Given the description of an element on the screen output the (x, y) to click on. 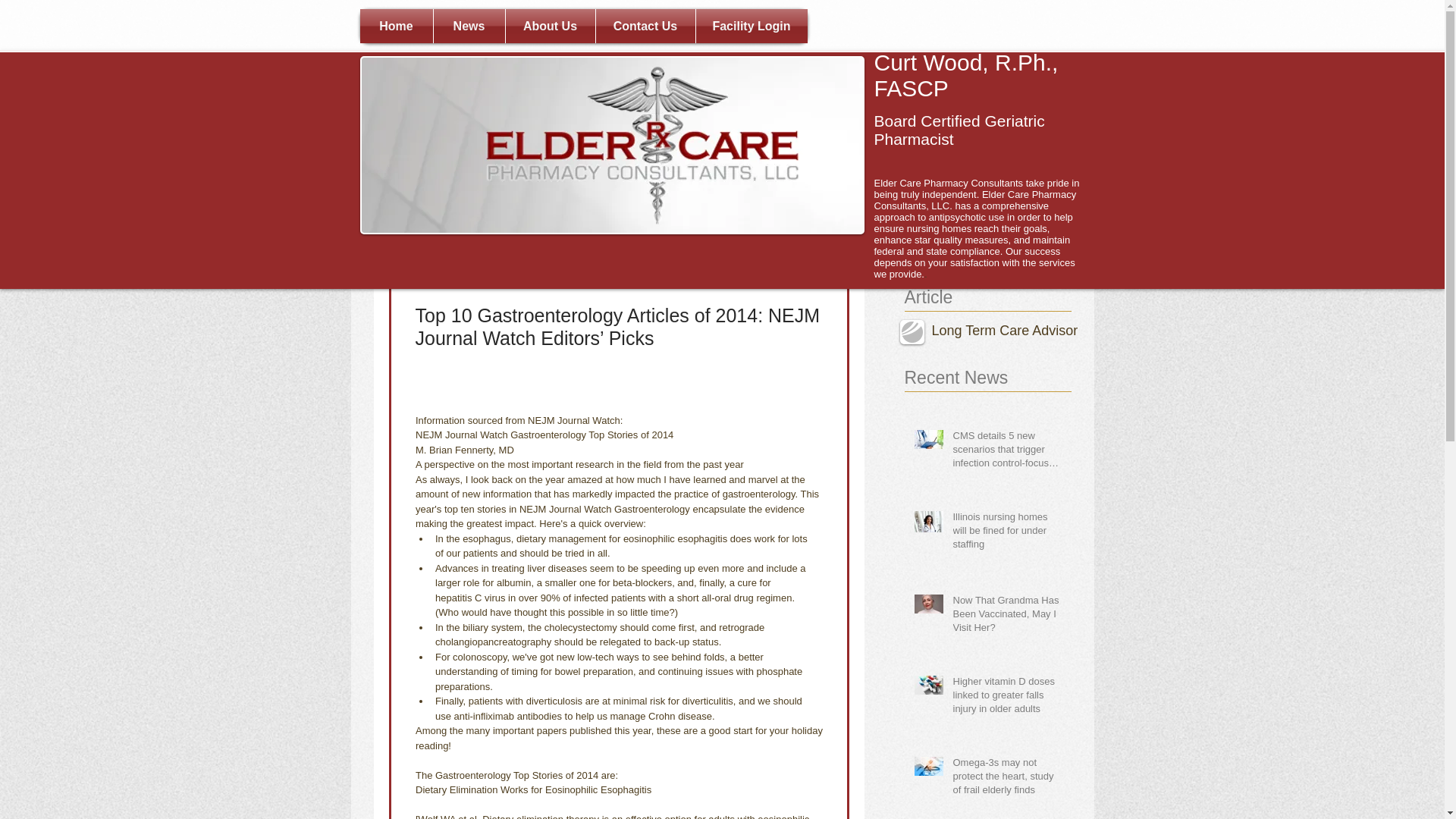
Home (395, 26)
News (469, 26)
Contact Us (645, 26)
Illinois nursing homes will be fined for under staffing (1006, 533)
ECLogo2.jpg (611, 145)
Now That Grandma Has Been Vaccinated, May I Visit Her? (1006, 617)
Facility Login (751, 26)
